Given the description of an element on the screen output the (x, y) to click on. 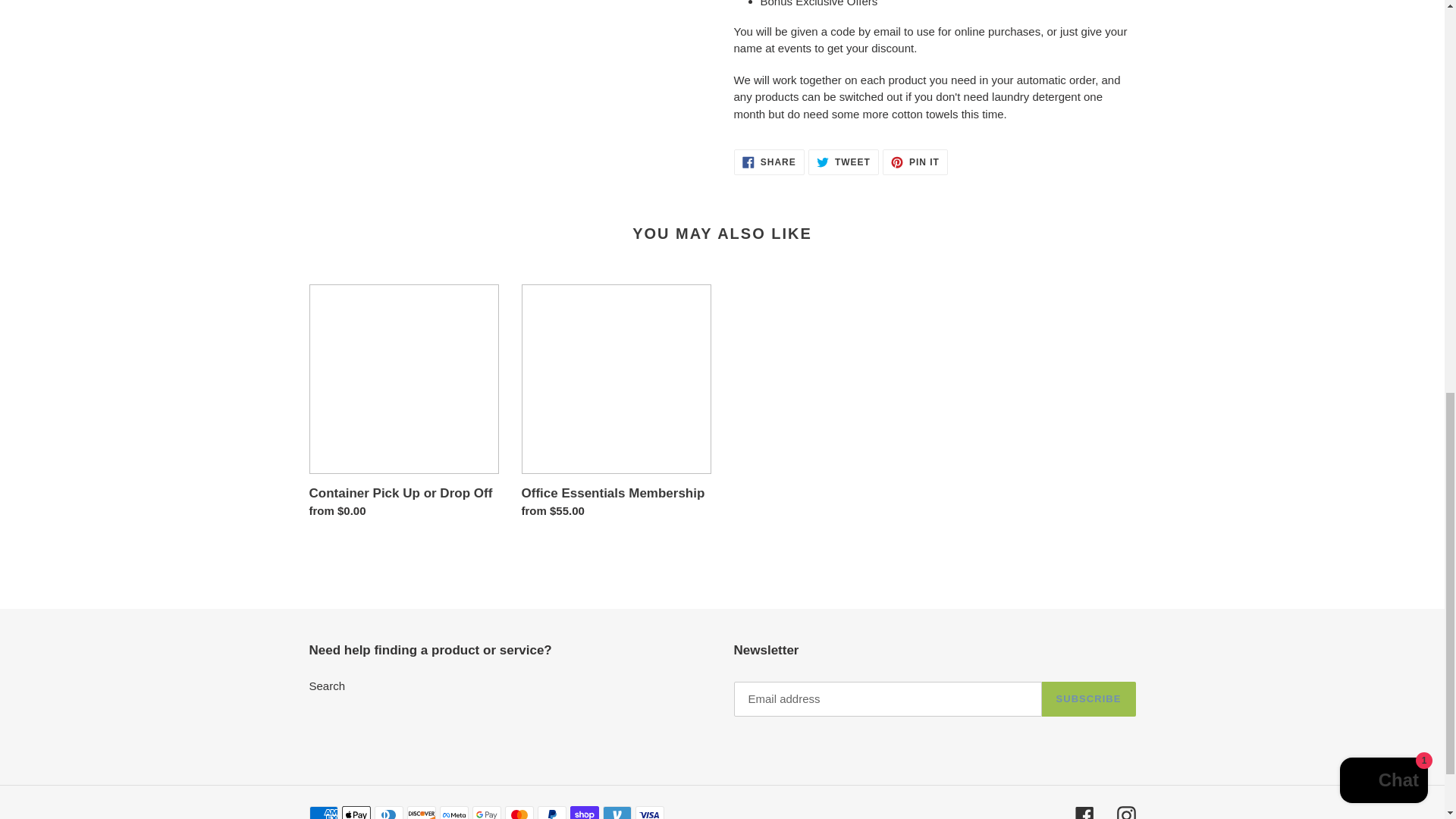
Search (327, 685)
Facebook (1084, 812)
Instagram (1125, 812)
SUBSCRIBE (1088, 698)
